Given the description of an element on the screen output the (x, y) to click on. 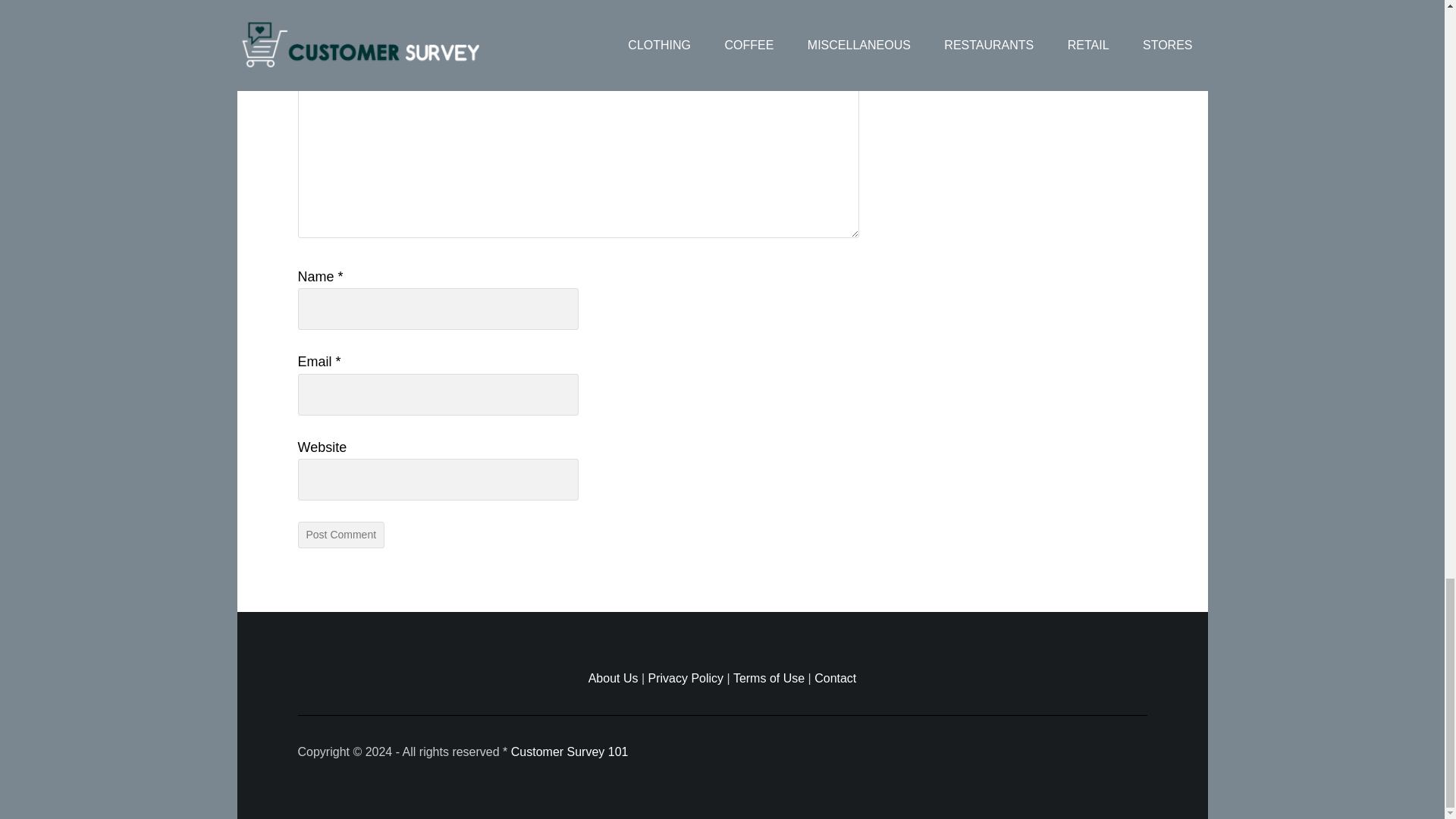
Terms of Use (769, 677)
Privacy Policy (685, 677)
About Us (613, 677)
Post Comment (340, 534)
Post Comment (340, 534)
Contact (834, 677)
Customer Survey 101 (569, 751)
